Given the description of an element on the screen output the (x, y) to click on. 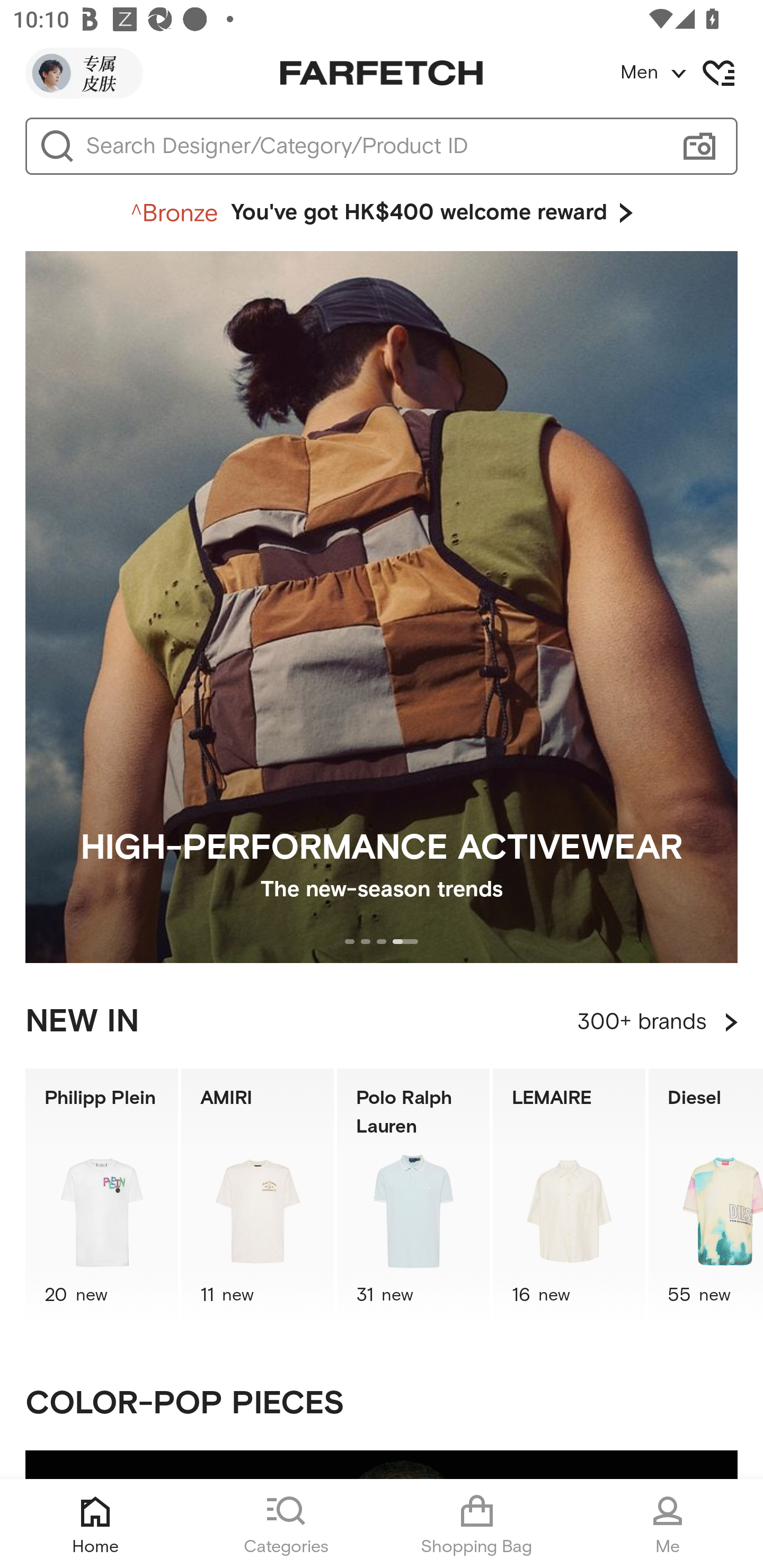
Men (691, 72)
Search Designer/Category/Product ID (373, 146)
You've got HK$400 welcome reward (381, 213)
NEW IN 300+ brands (381, 1021)
Philipp Plein 20  new (101, 1196)
AMIRI 11  new (257, 1196)
Polo Ralph Lauren 31  new (413, 1196)
LEMAIRE 16  new (568, 1196)
Diesel 55  new (705, 1196)
Categories (285, 1523)
Shopping Bag (476, 1523)
Me (667, 1523)
